Given the description of an element on the screen output the (x, y) to click on. 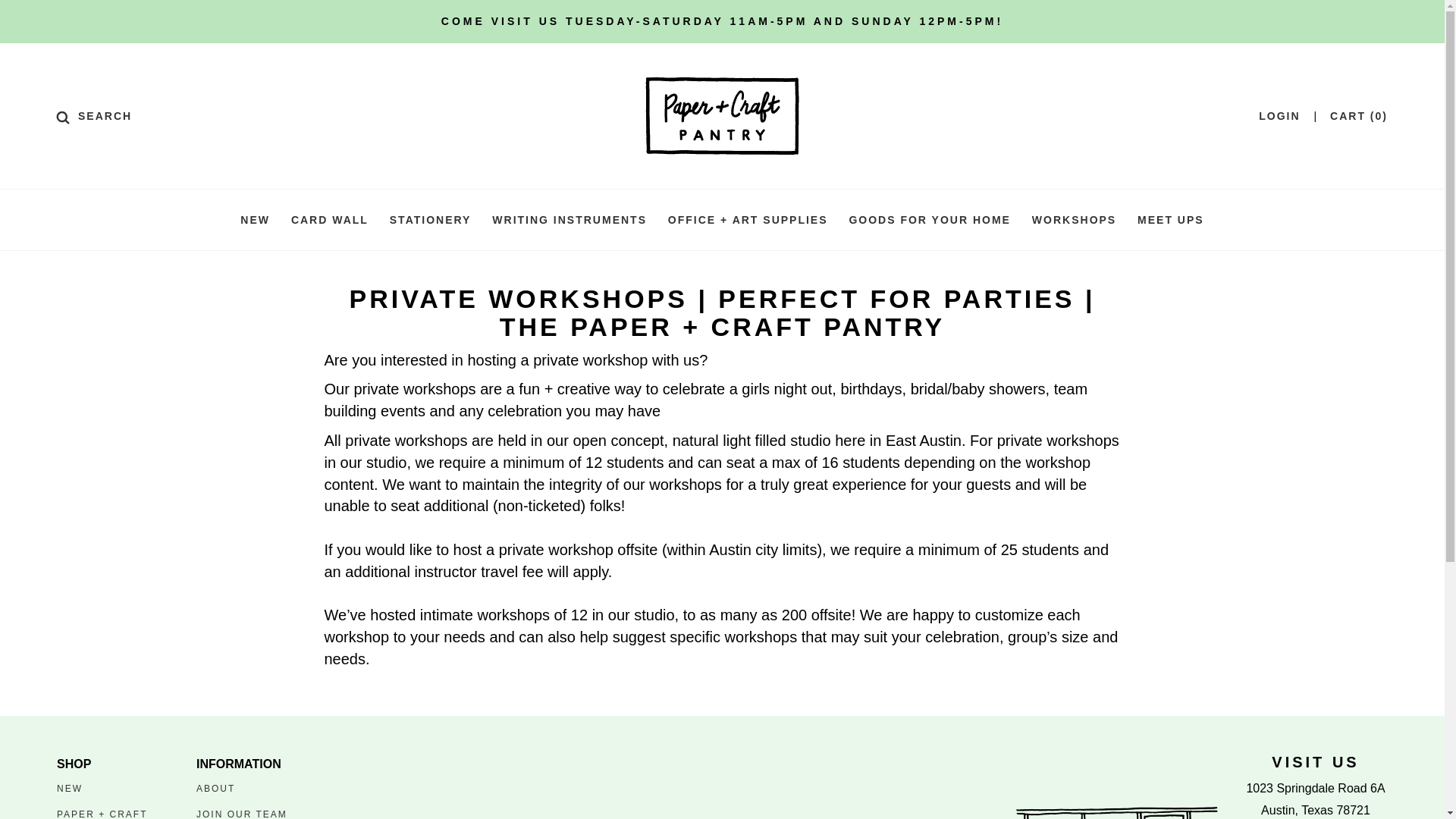
LOGIN (1279, 115)
SEARCH (94, 115)
